Given the description of an element on the screen output the (x, y) to click on. 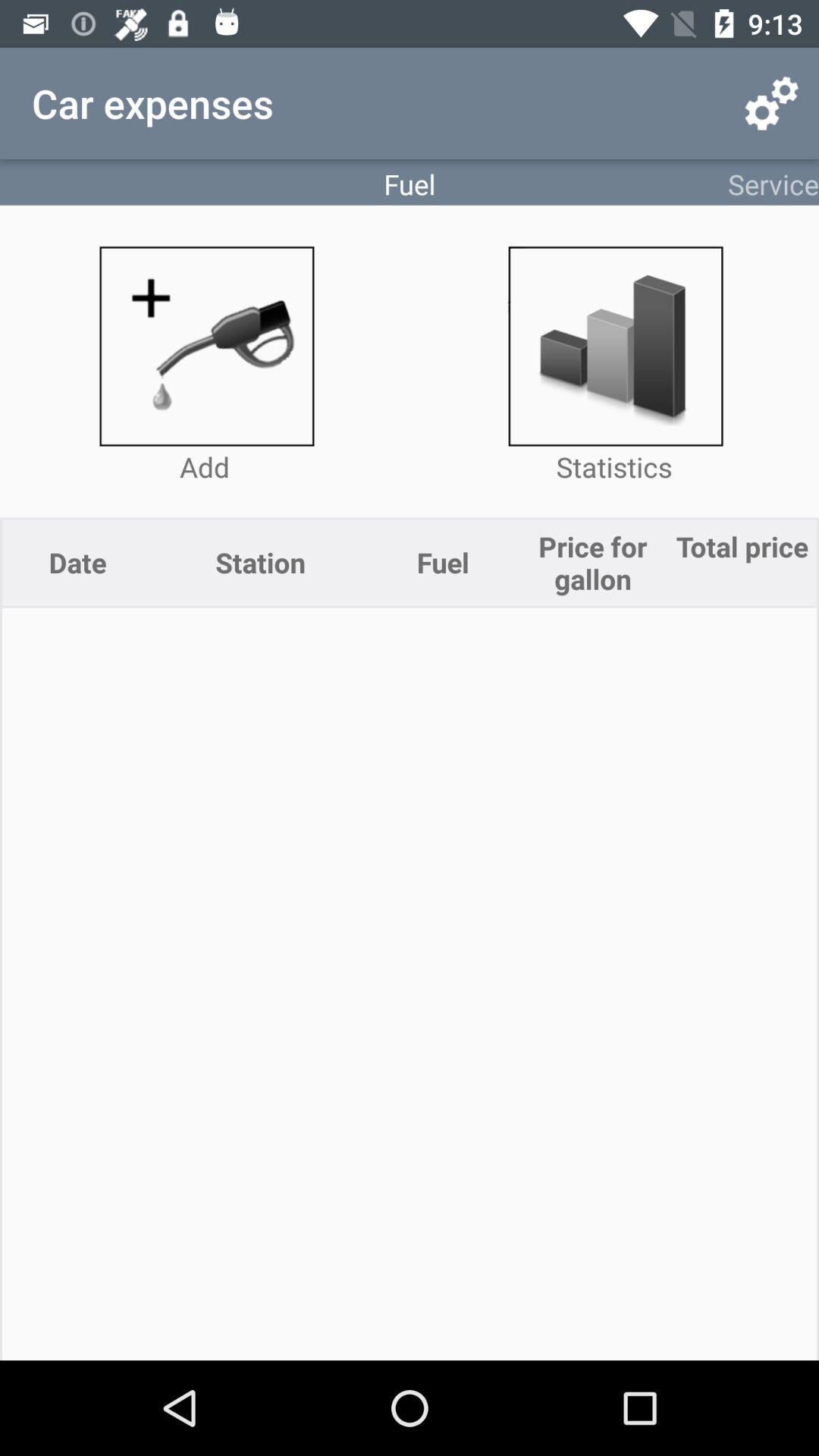
turn off app above service item (771, 103)
